Given the description of an element on the screen output the (x, y) to click on. 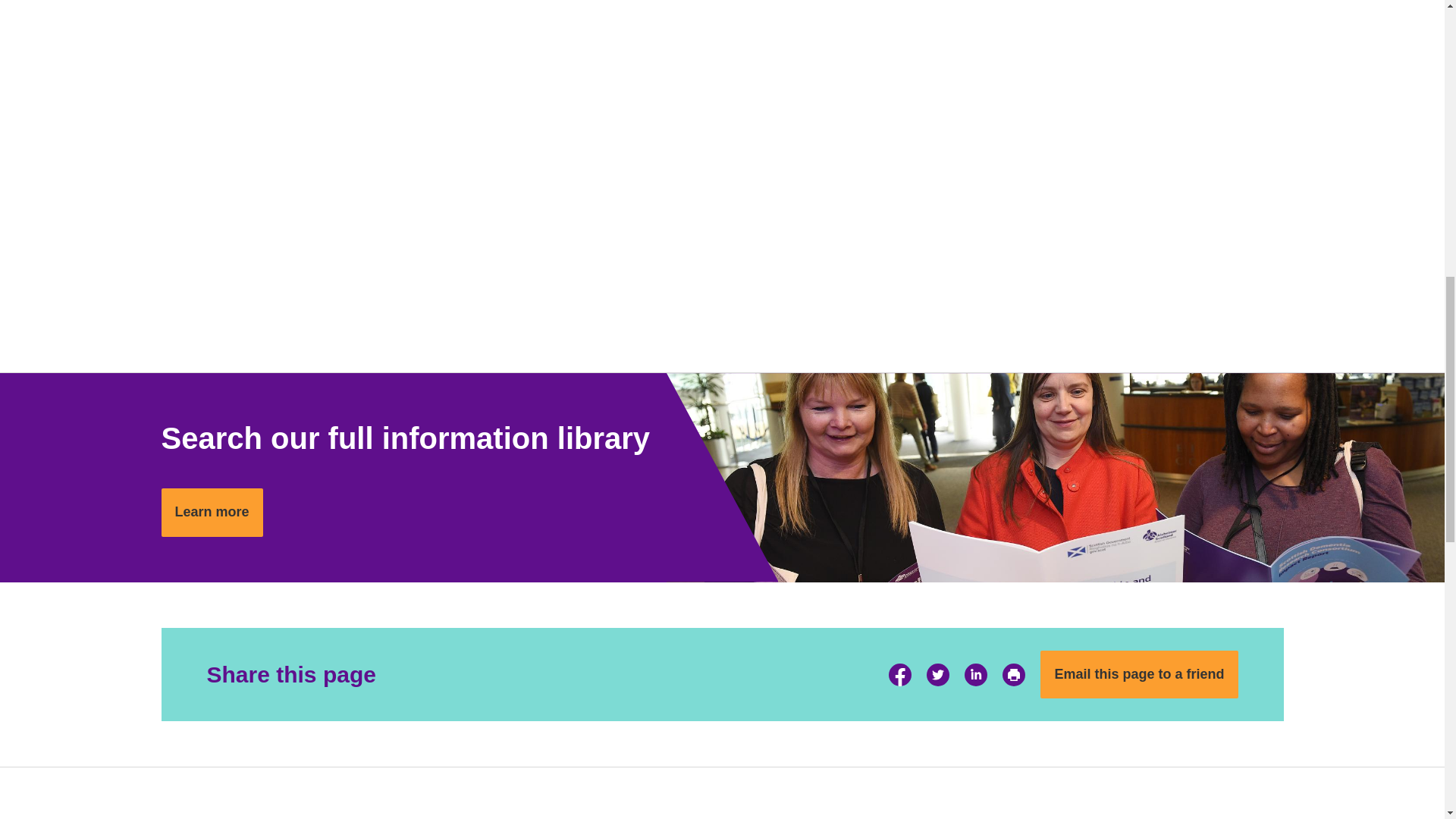
Share on LinkedIn (975, 674)
Share on Facebook (899, 674)
Opens in new window (975, 674)
Learn more (211, 512)
Email this page to a friend (1139, 674)
Opens in new window (899, 674)
Share on Twitter (937, 674)
Print this page (1014, 674)
Opens in new window (937, 674)
